Given the description of an element on the screen output the (x, y) to click on. 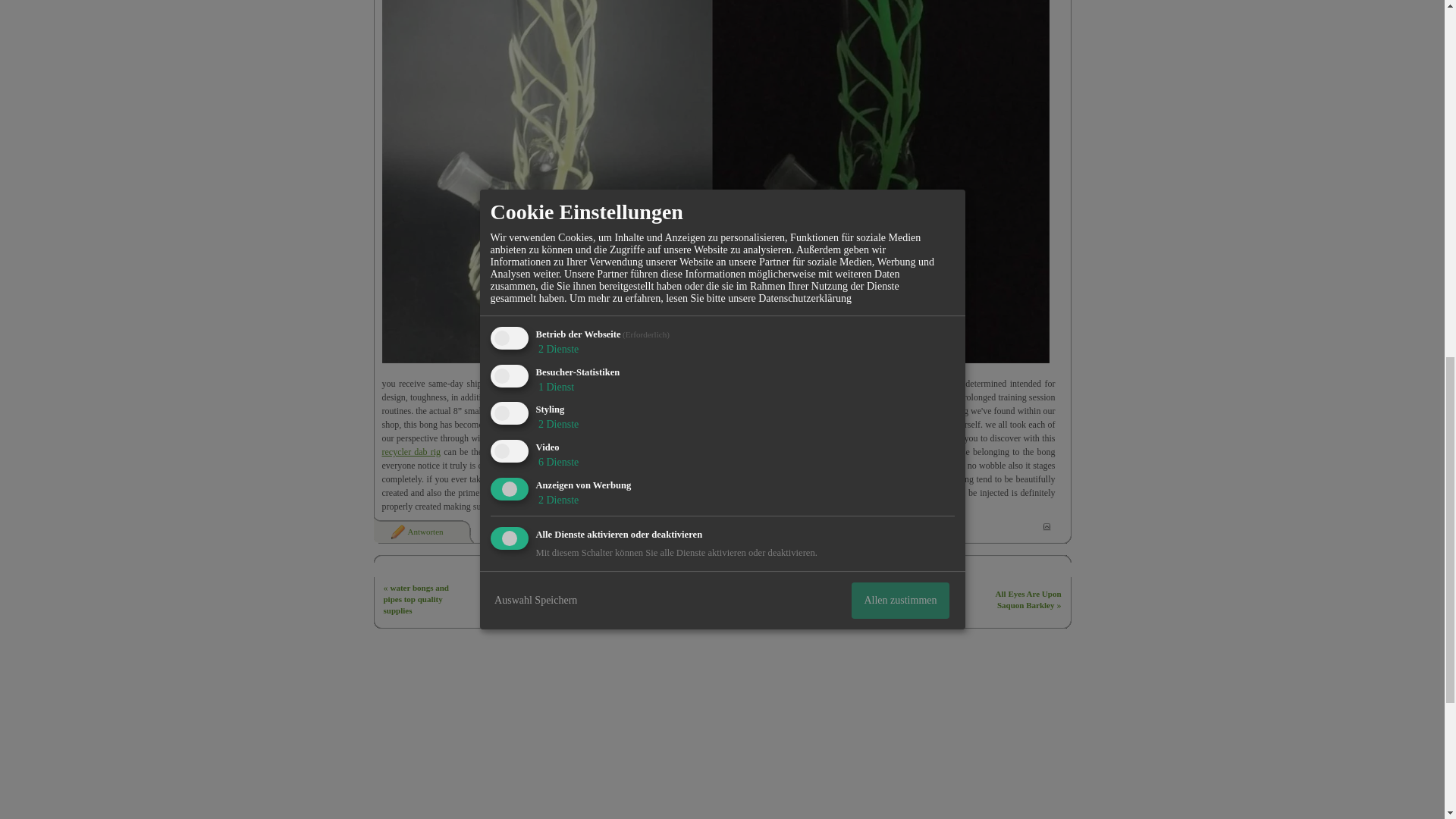
recycler dab rig (411, 451)
Antworten (416, 531)
water pipe (571, 383)
nach oben springen (1046, 526)
All Eyes Are Upon Saquon Barkley (1028, 599)
water bongs and pipes top quality supplies (416, 598)
